Given the description of an element on the screen output the (x, y) to click on. 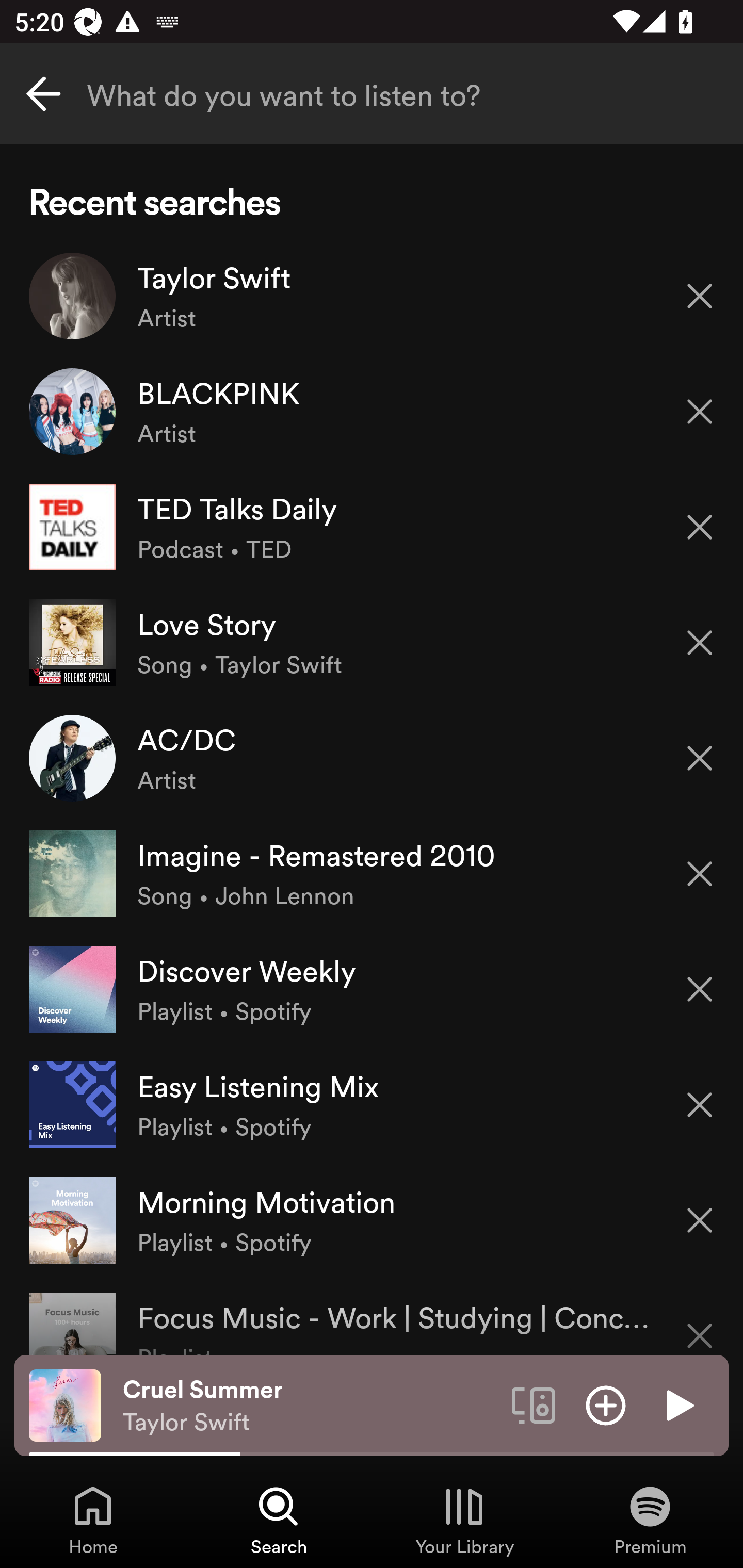
What do you want to listen to? (371, 93)
Cancel (43, 93)
Taylor Swift Artist Remove (371, 296)
Remove (699, 295)
BLACKPINK Artist Remove (371, 411)
Remove (699, 411)
TED Talks Daily Podcast • TED Remove (371, 526)
Remove (699, 527)
Love Story Song • Taylor Swift Remove (371, 642)
Remove (699, 642)
AC/DC Artist Remove (371, 757)
Remove (699, 758)
Remove (699, 874)
Discover Weekly Playlist • Spotify Remove (371, 989)
Remove (699, 989)
Easy Listening Mix Playlist • Spotify Remove (371, 1104)
Remove (699, 1104)
Morning Motivation Playlist • Spotify Remove (371, 1219)
Remove (699, 1220)
Remove (699, 1323)
Cruel Summer Taylor Swift (309, 1405)
The cover art of the currently playing track (64, 1404)
Connect to a device. Opens the devices menu (533, 1404)
Add item (605, 1404)
Play (677, 1404)
Home, Tab 1 of 4 Home Home (92, 1519)
Search, Tab 2 of 4 Search Search (278, 1519)
Your Library, Tab 3 of 4 Your Library Your Library (464, 1519)
Premium, Tab 4 of 4 Premium Premium (650, 1519)
